Given the description of an element on the screen output the (x, y) to click on. 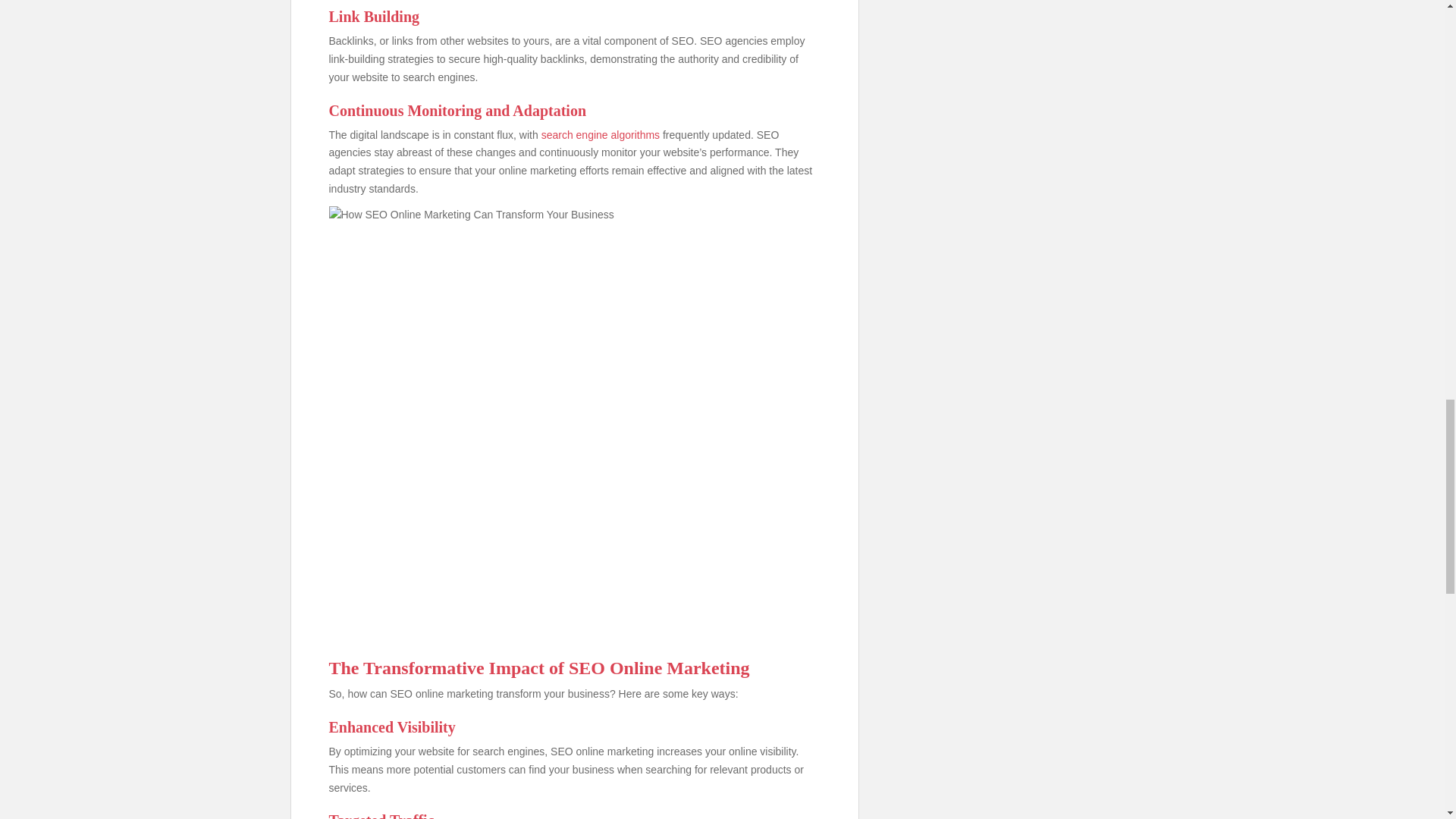
search engine algorithms (600, 134)
